Given the description of an element on the screen output the (x, y) to click on. 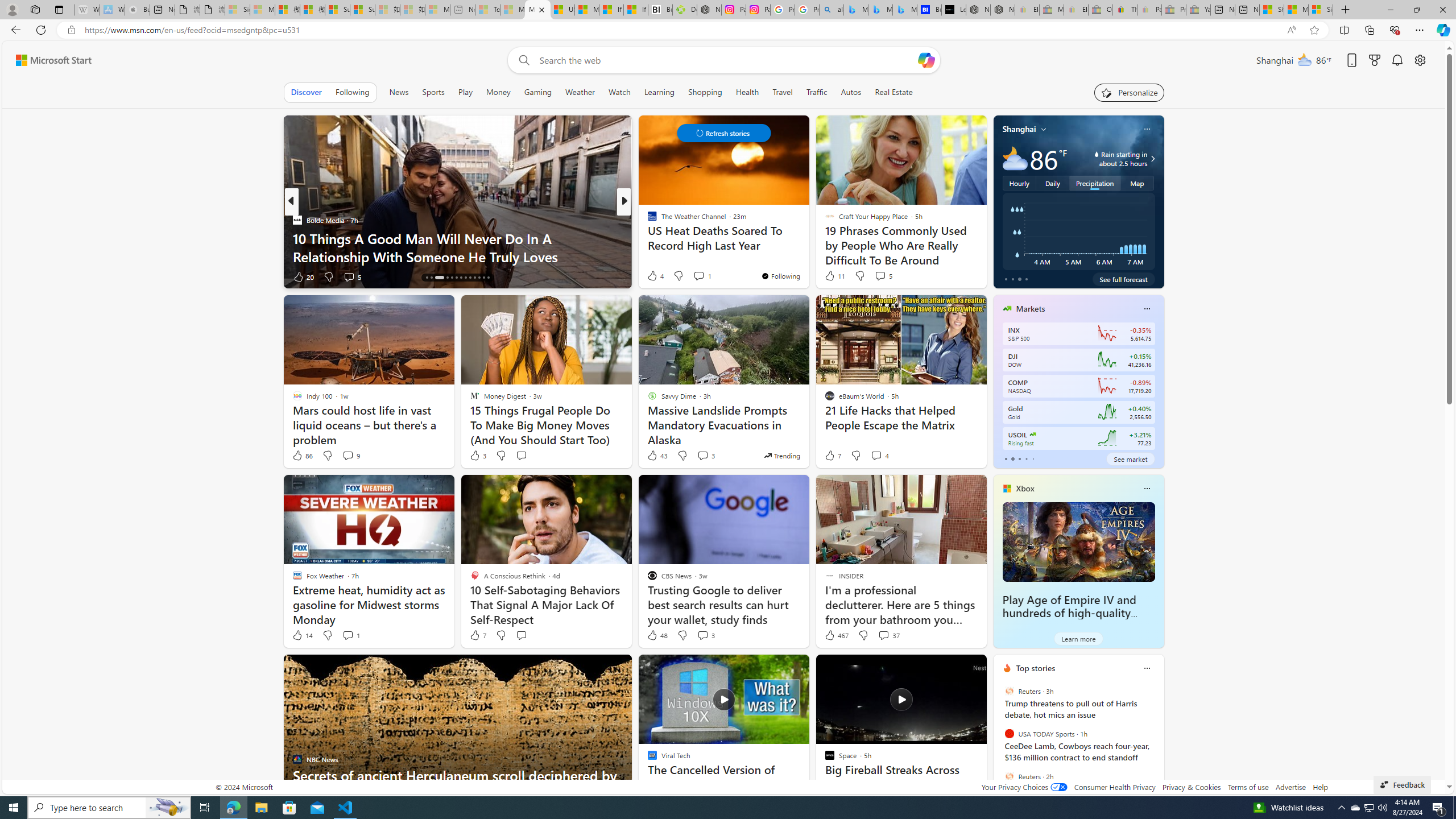
311 Like (654, 276)
AutomationID: tab-16 (439, 277)
View comments 13 Comment (6, 276)
Xbox (1025, 488)
AutomationID: tab-25 (483, 277)
4 Like (655, 275)
150 Like (654, 276)
